Given the description of an element on the screen output the (x, y) to click on. 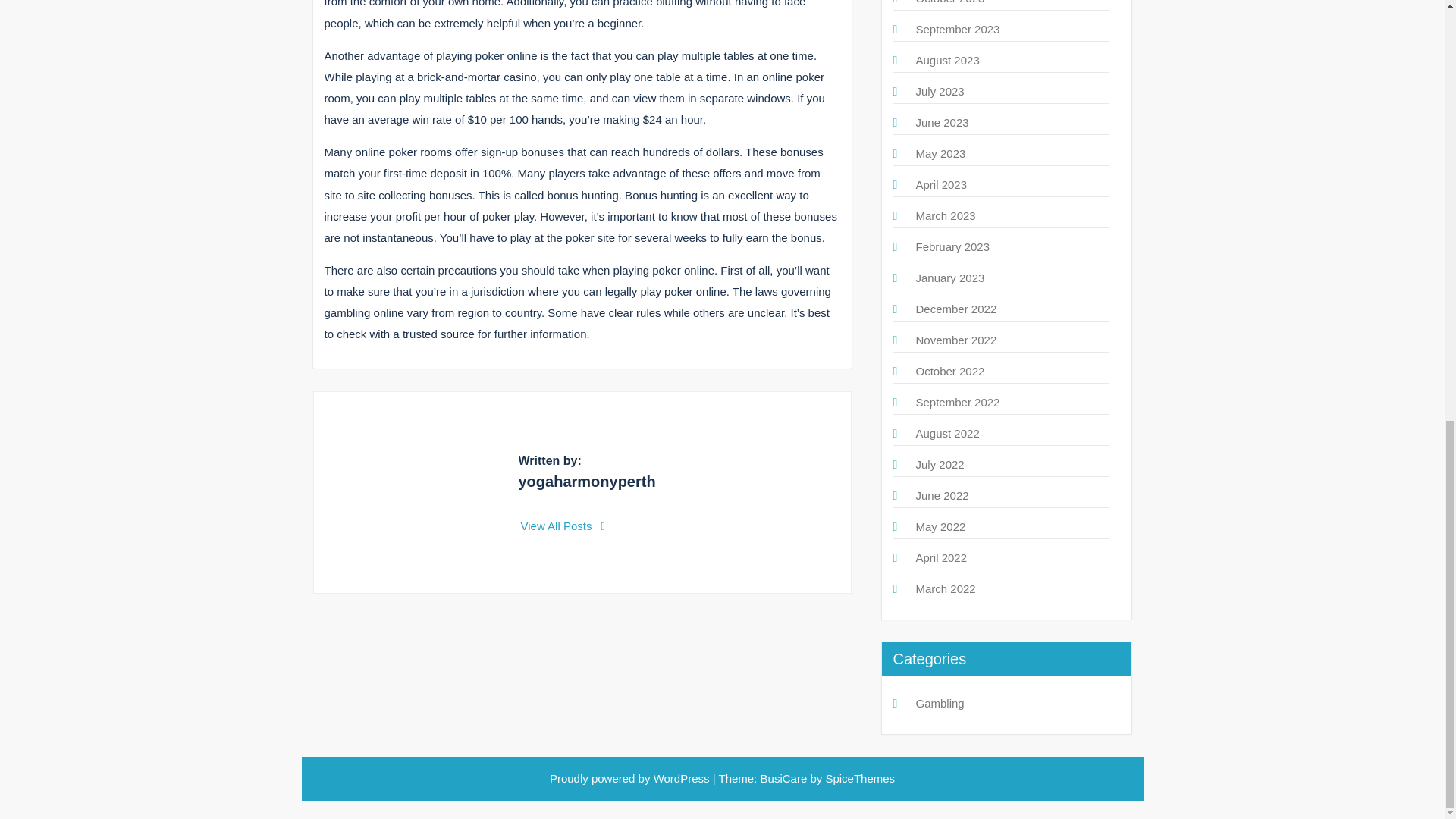
View All Posts (562, 525)
April 2022 (941, 557)
June 2023 (942, 122)
October 2022 (950, 370)
July 2023 (939, 91)
July 2022 (939, 463)
May 2023 (940, 153)
May 2022 (940, 526)
December 2022 (956, 308)
September 2023 (957, 29)
